Given the description of an element on the screen output the (x, y) to click on. 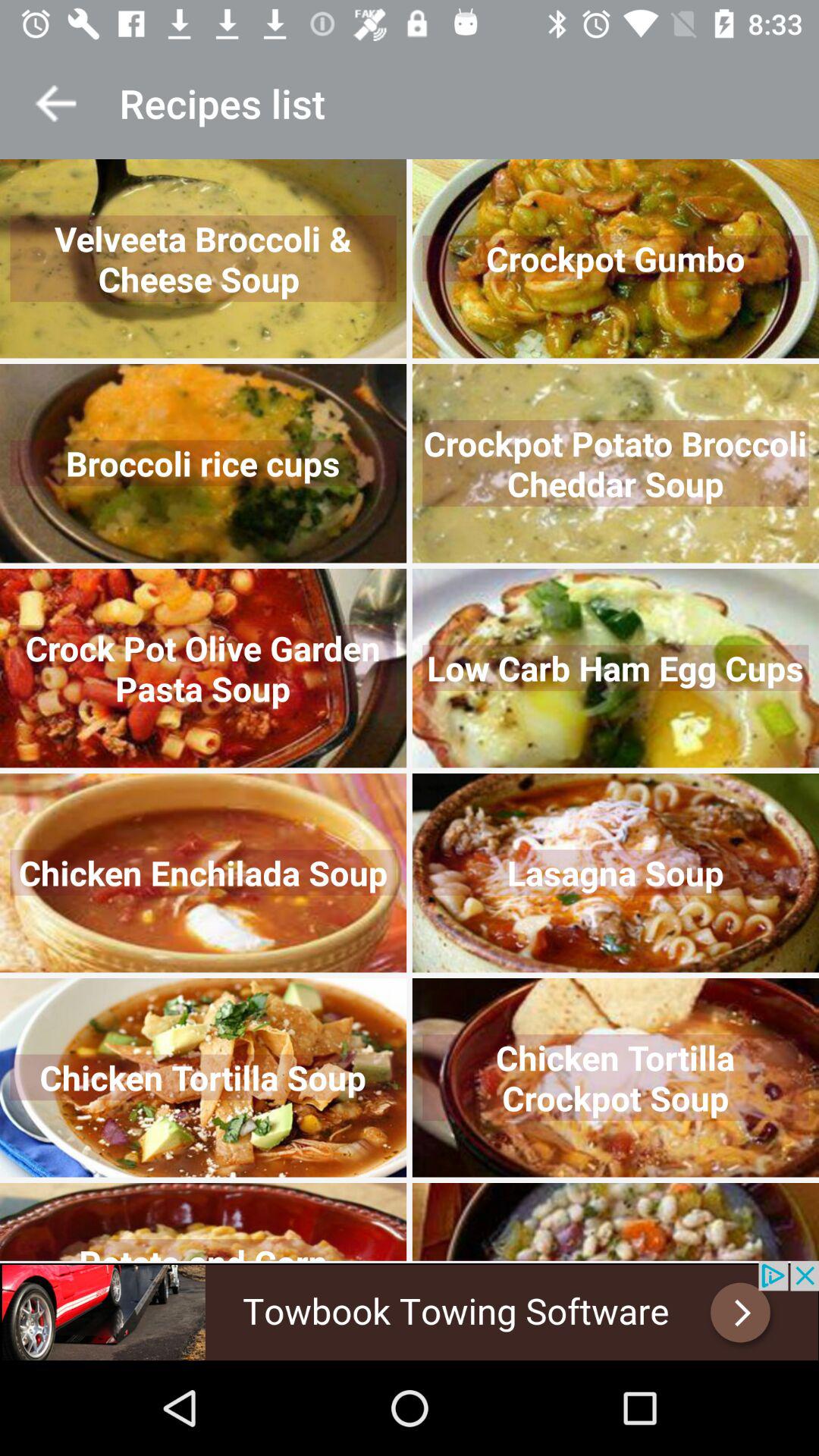
aromark (55, 103)
